Given the description of an element on the screen output the (x, y) to click on. 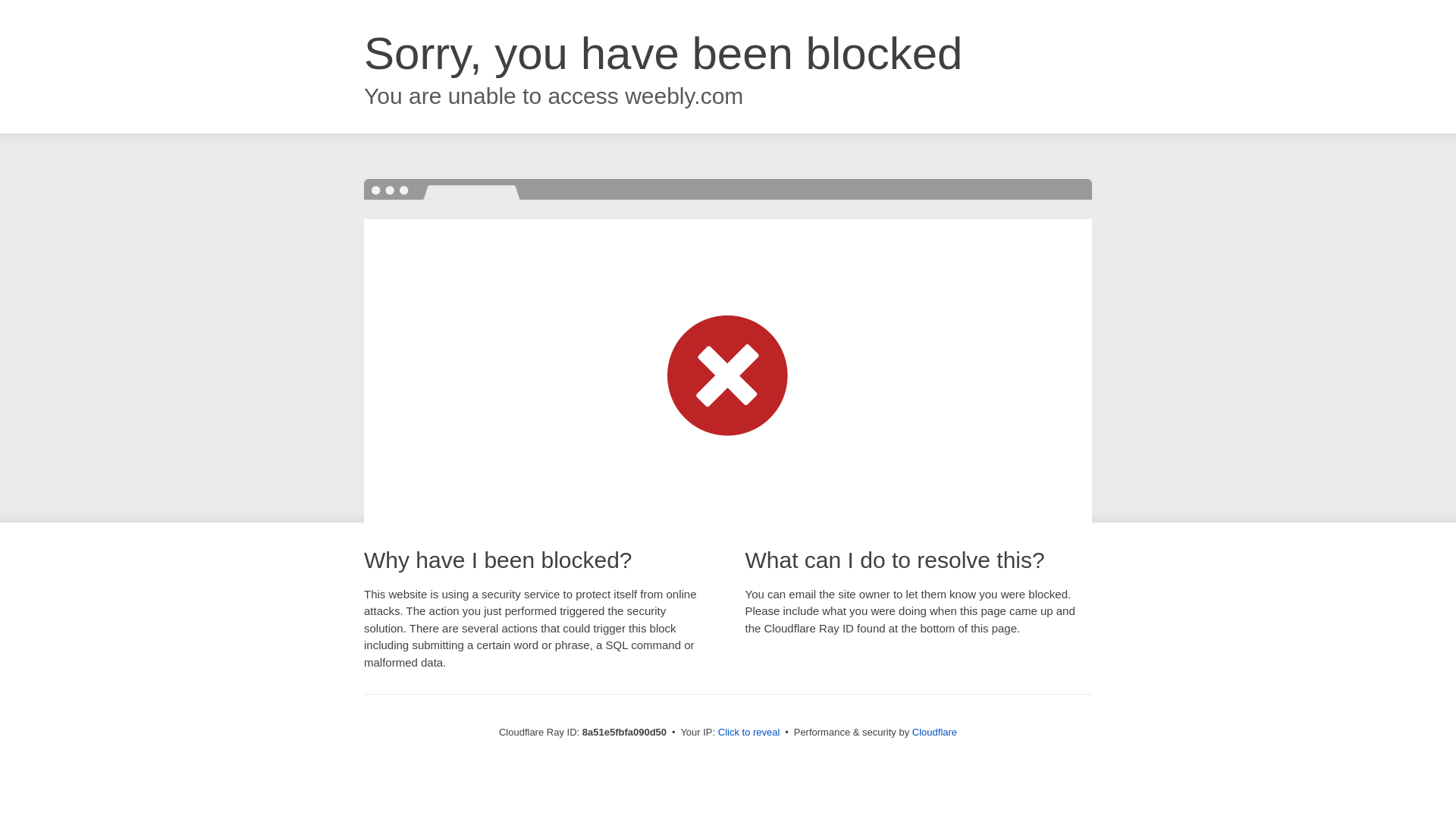
Click to reveal (748, 732)
Cloudflare (934, 731)
